Given the description of an element on the screen output the (x, y) to click on. 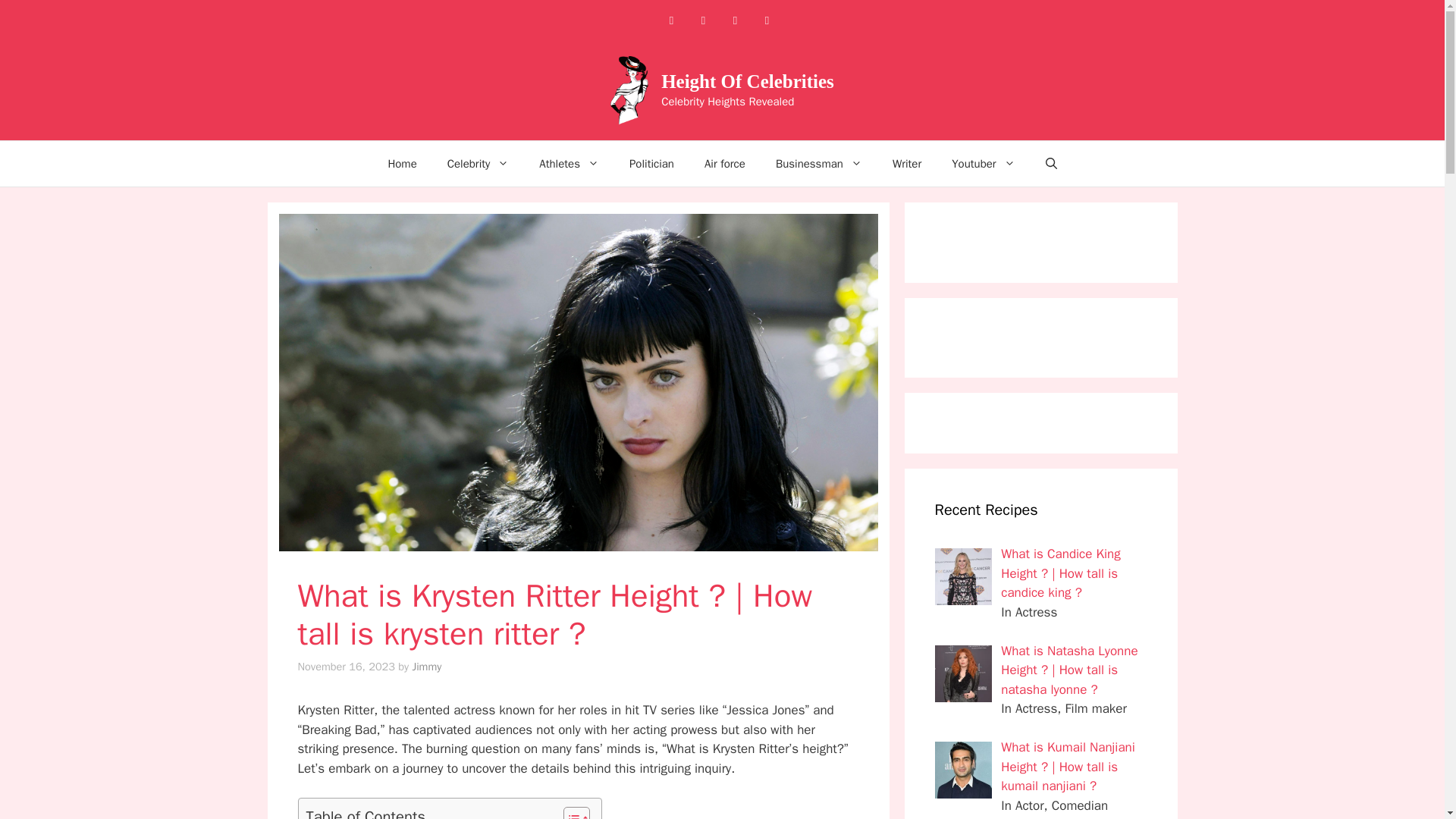
Youtuber (982, 163)
Air force (724, 163)
Instagram (703, 20)
Writer (906, 163)
View all posts by Jimmy (426, 666)
Home (401, 163)
Businessman (818, 163)
Politician (651, 163)
Celebrity (478, 163)
Height Of Celebrities (747, 81)
Facebook (671, 20)
Pinterest (735, 20)
Athletes (569, 163)
Twitter (766, 20)
